Given the description of an element on the screen output the (x, y) to click on. 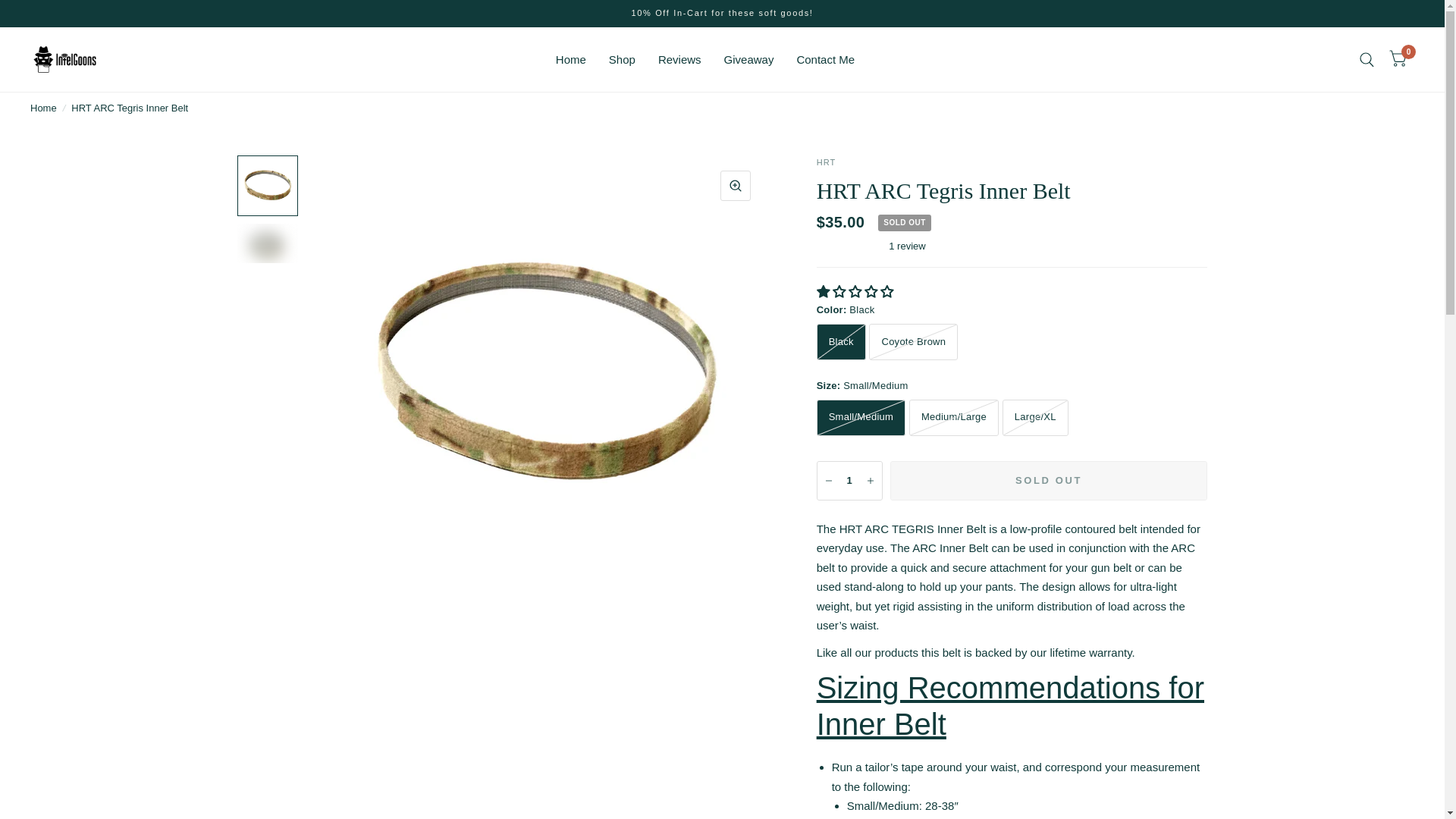
1 review (1012, 245)
SOLD OUT (1048, 480)
Home (43, 108)
Home (43, 108)
Contact Me (825, 59)
Reviews (679, 59)
Contact Me (825, 59)
Giveaway (748, 59)
Giveaway (748, 59)
Reviews (679, 59)
